Given the description of an element on the screen output the (x, y) to click on. 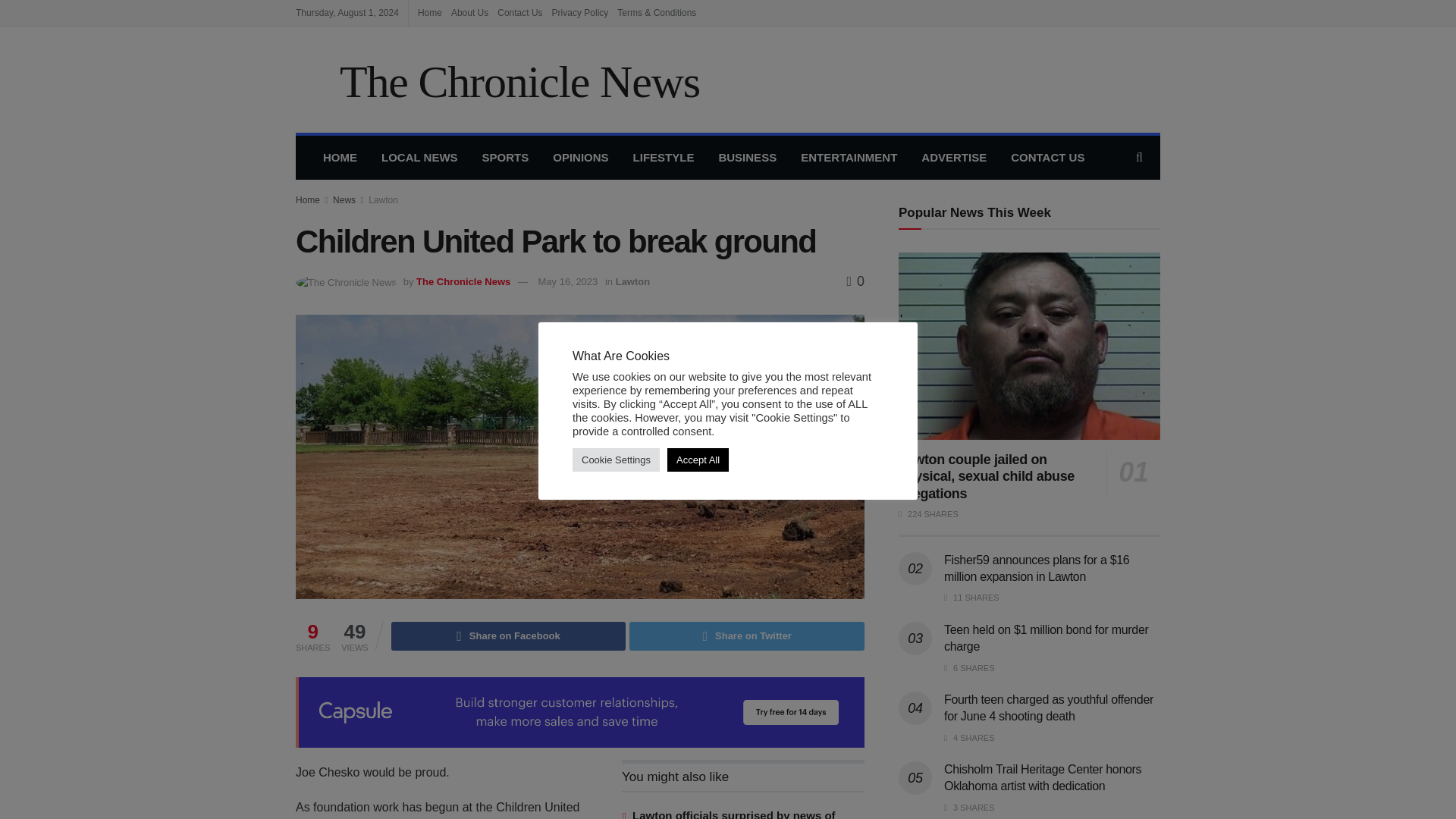
LIFESTYLE (663, 157)
0 (854, 281)
LOCAL NEWS (419, 157)
OPINIONS (580, 157)
Lawton (382, 199)
CONTACT US (1047, 157)
Privacy Policy (579, 12)
Contact Us (519, 12)
HOME (340, 157)
Home (429, 12)
ADVERTISE (953, 157)
May 16, 2023 (568, 281)
The Chronicle News (463, 281)
Home (307, 199)
ENTERTAINMENT (848, 157)
